Given the description of an element on the screen output the (x, y) to click on. 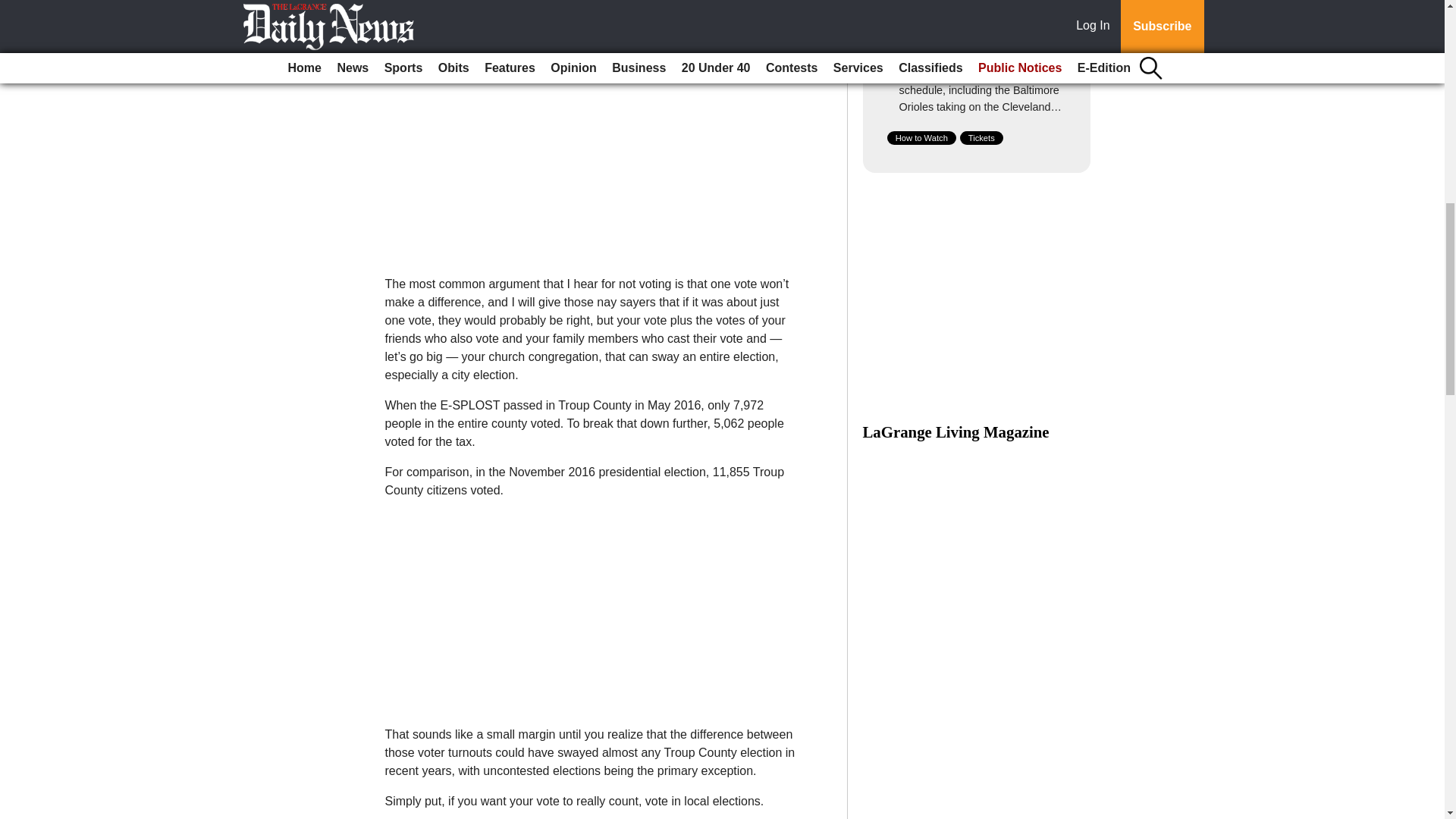
How to Watch (921, 137)
Tickets (981, 137)
